Given the description of an element on the screen output the (x, y) to click on. 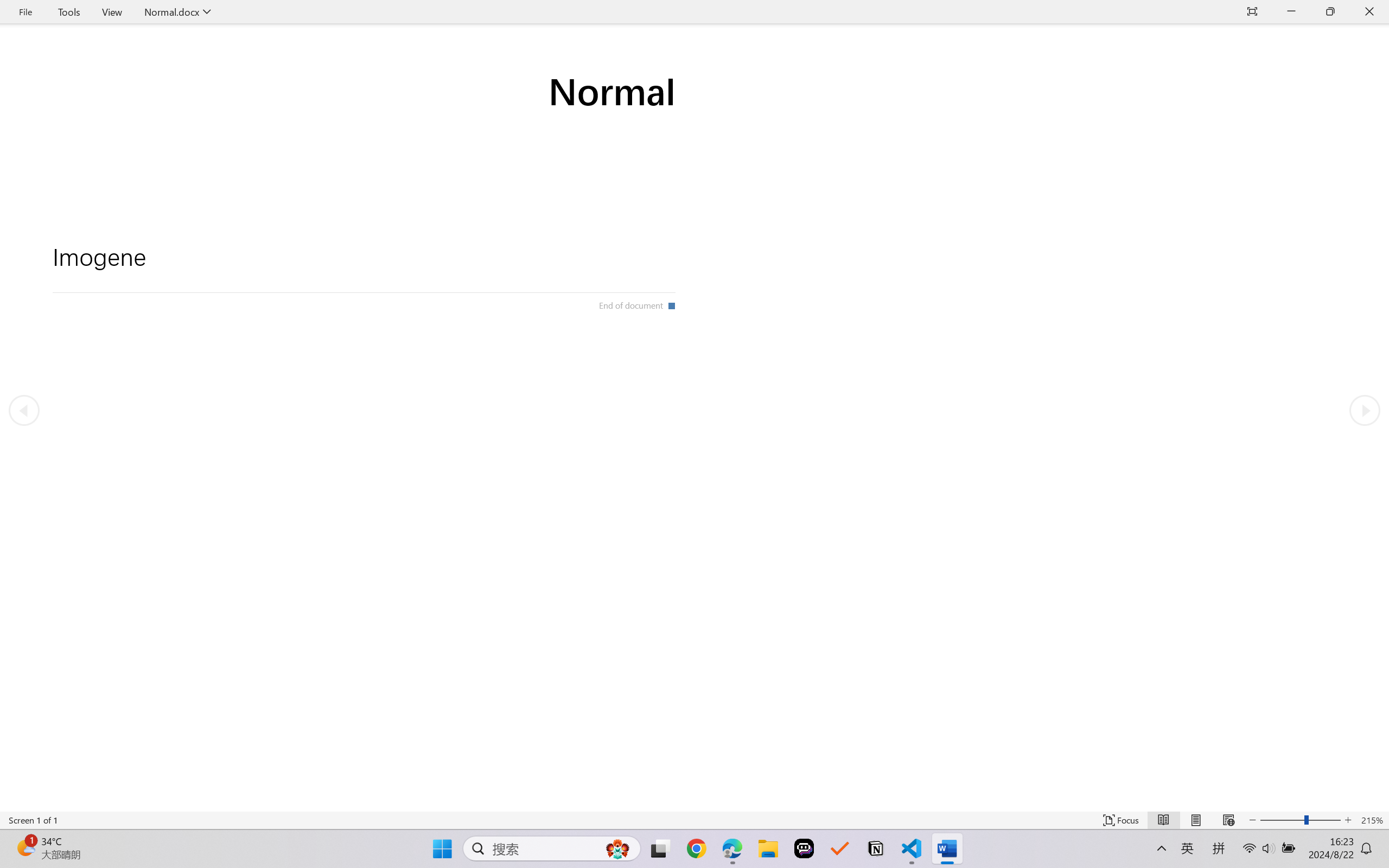
Tools (69, 11)
Class: MsoCommandBar (694, 819)
Class: NetUIScrollBar (694, 803)
